Given the description of an element on the screen output the (x, y) to click on. 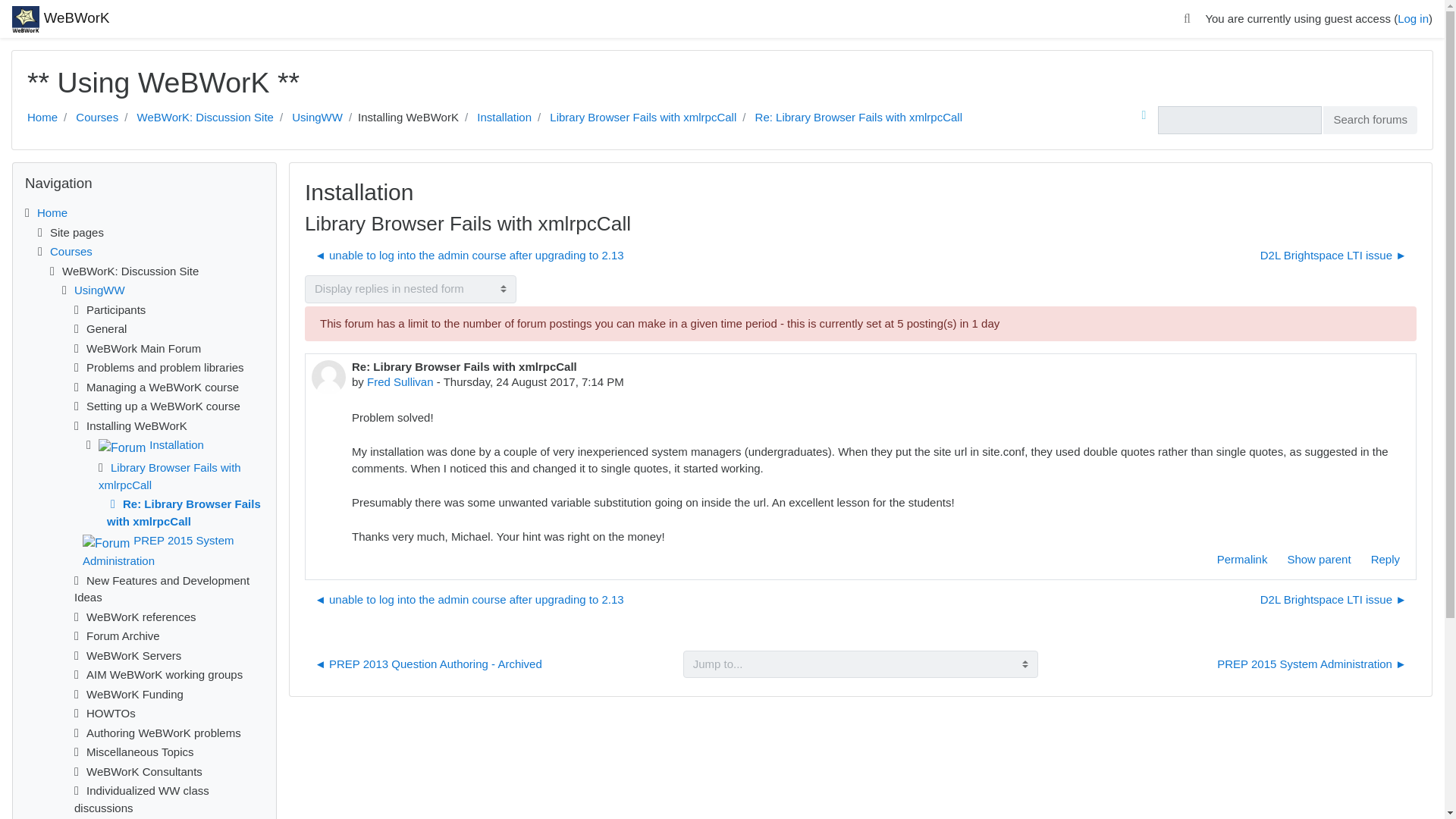
Courses (96, 116)
PREP 2015 System Administration (158, 550)
Search (1186, 19)
Reply (1385, 560)
Installation (504, 116)
Installation (151, 444)
Home (42, 116)
Courses (71, 250)
Permanent link to this post (1242, 560)
UsingWW (317, 116)
Log in (1412, 18)
Permanent link to the parent of this post (1317, 560)
Home (51, 212)
PREP 2013 Question Authoring - Archived (427, 664)
Re: Library Browser Fails with xmlrpcCall (858, 116)
